Given the description of an element on the screen output the (x, y) to click on. 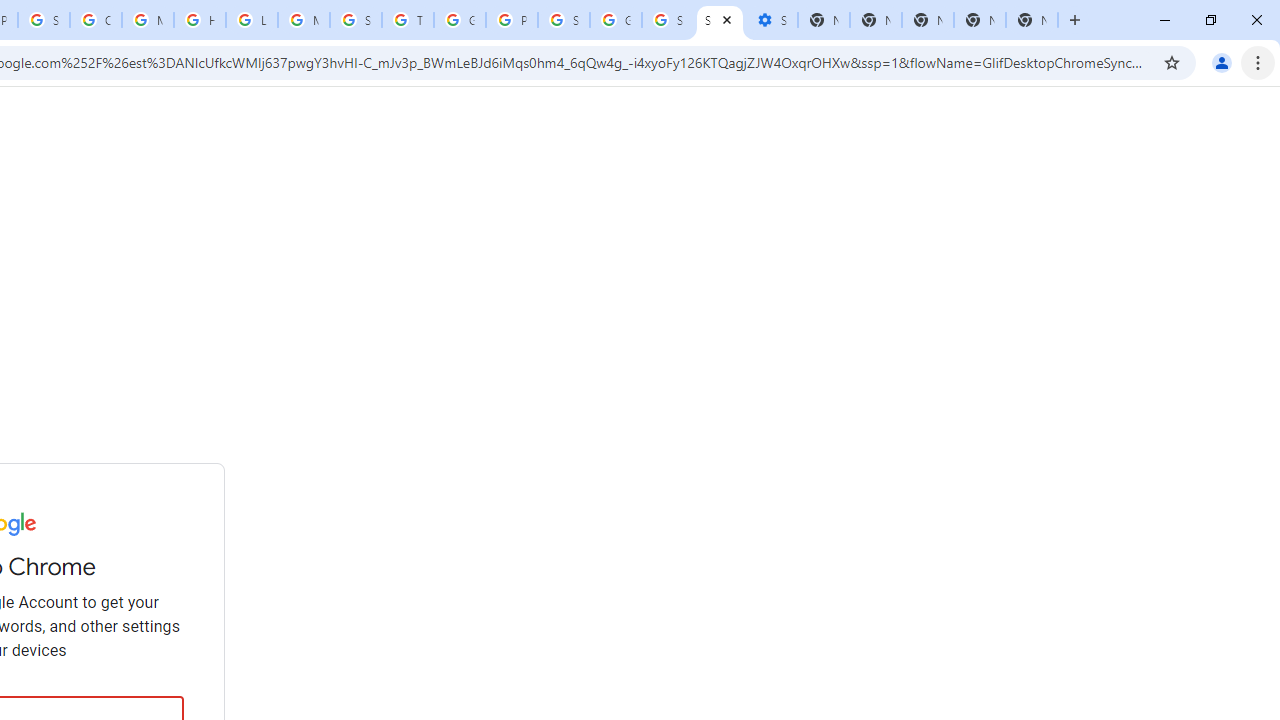
Settings - Performance (771, 20)
Sign in - Google Accounts (563, 20)
Search our Doodle Library Collection - Google Doodles (355, 20)
Sign in - Google Accounts (667, 20)
Trusted Information and Content - Google Safety Center (407, 20)
Sign in - Google Accounts (719, 20)
